Given the description of an element on the screen output the (x, y) to click on. 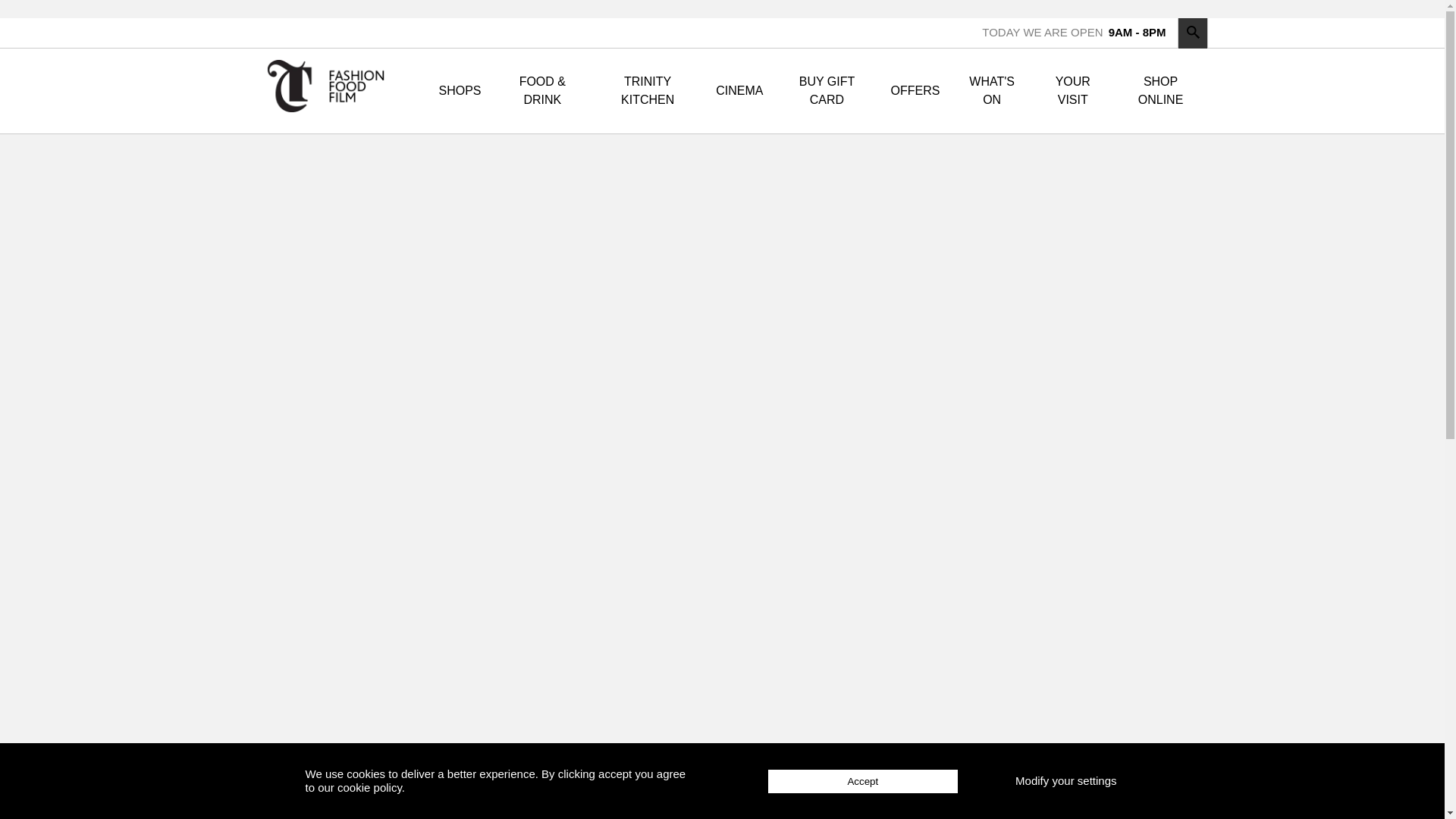
WHAT'S ON (991, 90)
TODAY WE ARE OPEN 9AM - 8PM (1074, 31)
Home (330, 90)
Accept (863, 780)
YOUR VISIT (1072, 90)
TRINITY KITCHEN (647, 90)
Search (1192, 33)
SHOP ONLINE (1160, 90)
BUY GIFT CARD (825, 90)
